Given the description of an element on the screen output the (x, y) to click on. 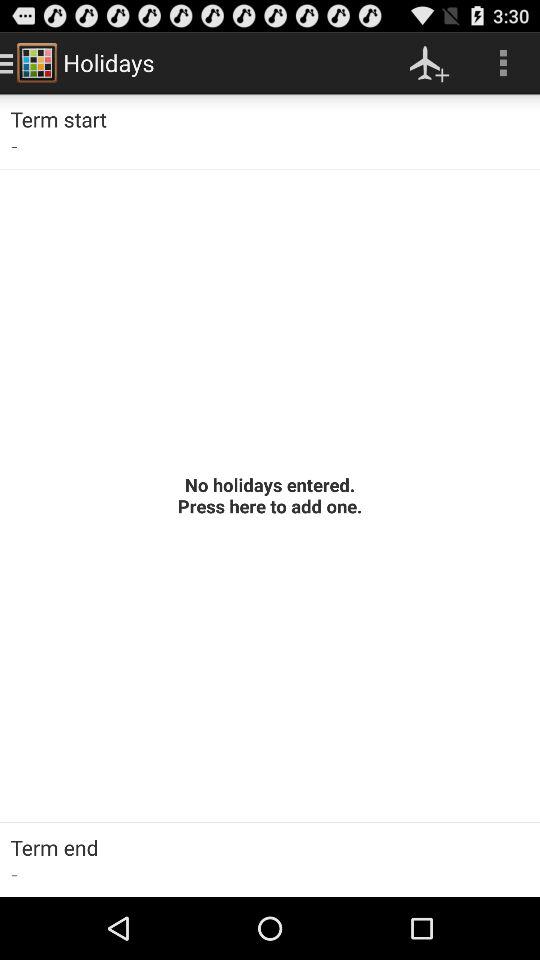
scroll to the no holidays entered item (270, 495)
